Given the description of an element on the screen output the (x, y) to click on. 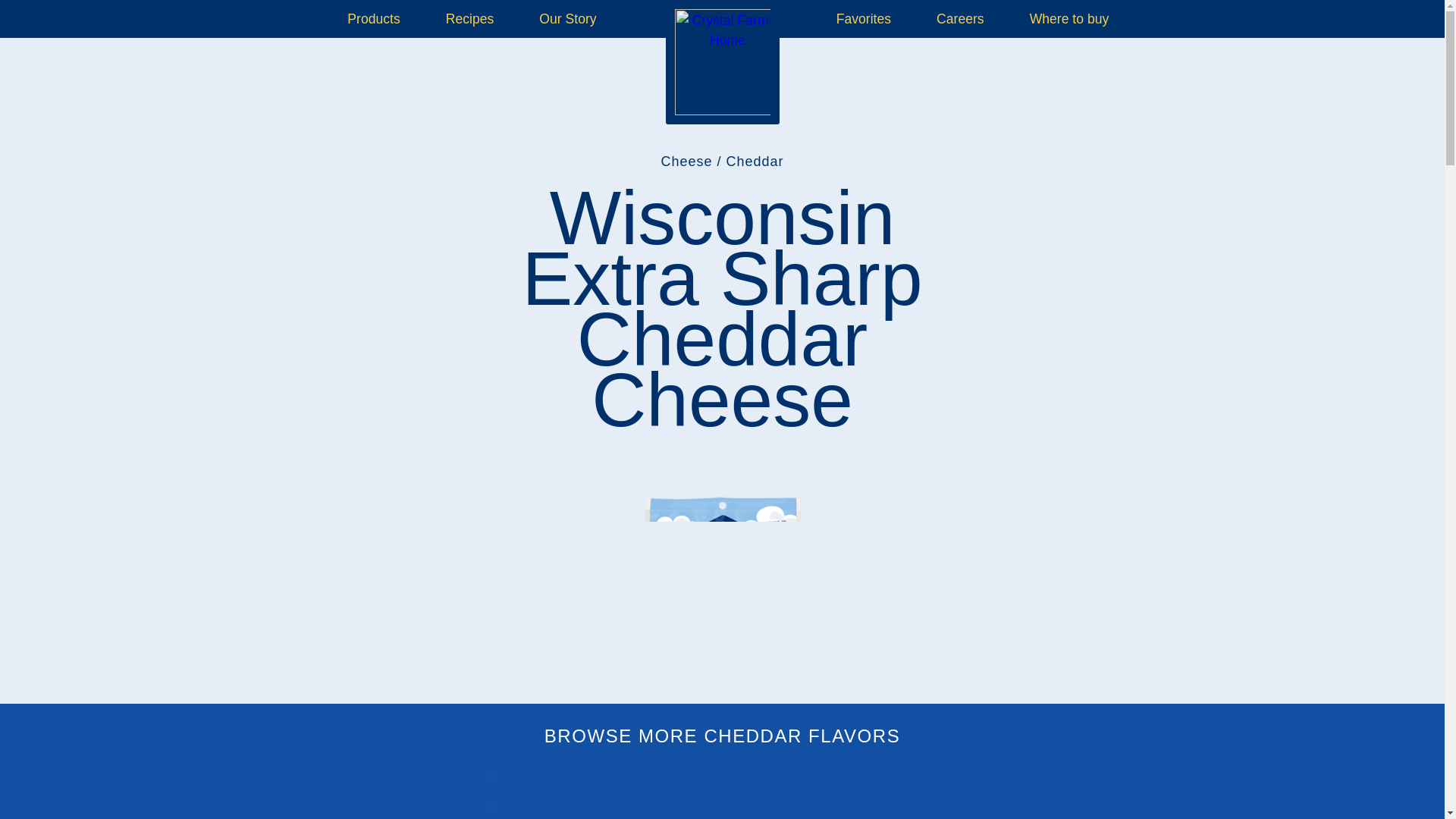
Favorites (863, 18)
Where to buy (1069, 18)
Products (373, 18)
Our Story (567, 18)
Careers (960, 18)
Recipes (469, 18)
